Given the description of an element on the screen output the (x, y) to click on. 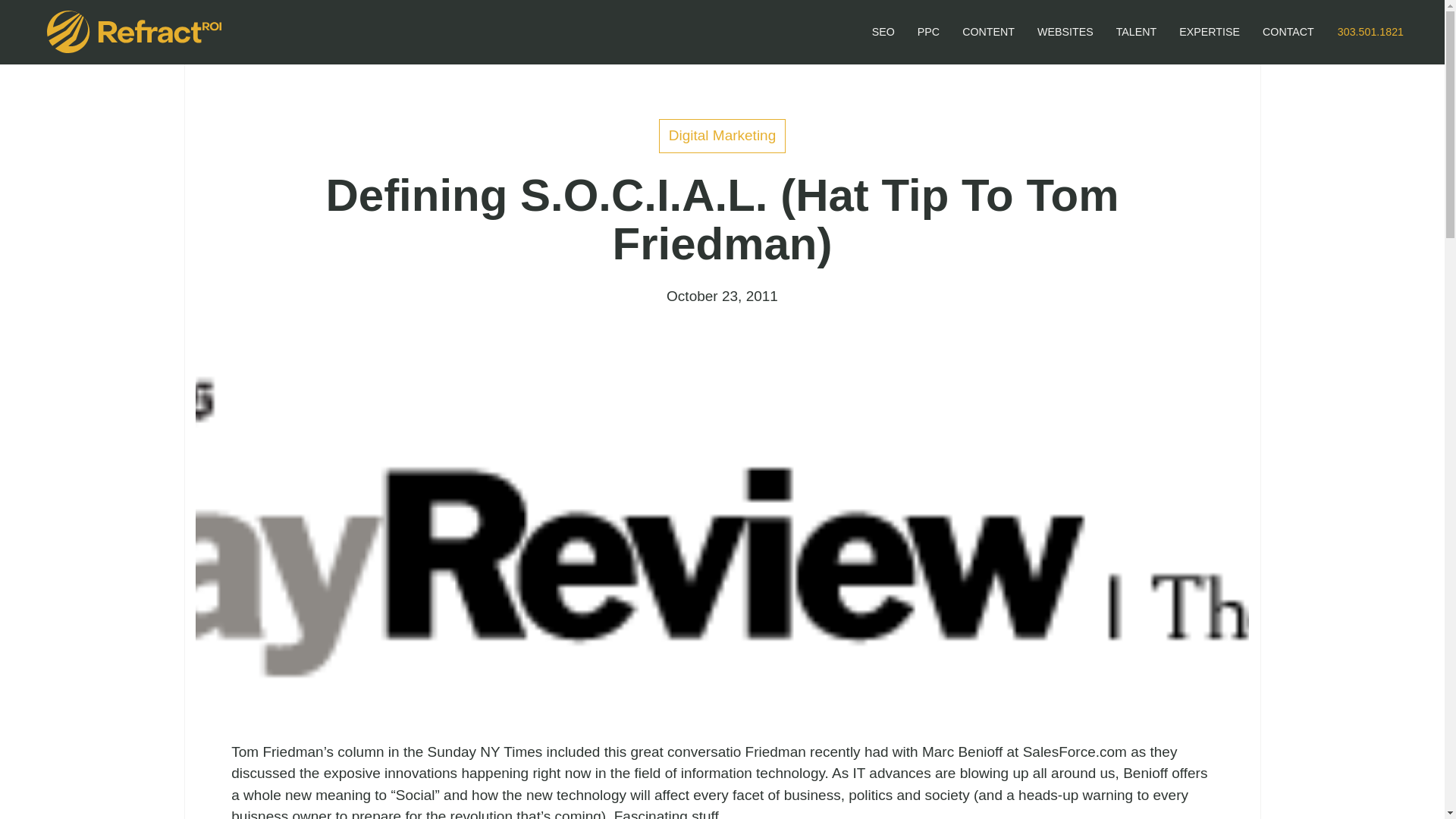
303.501.1821 (1369, 31)
EXPERTISE (1208, 32)
TALENT (1137, 32)
CONTENT (988, 32)
CONTACT (777, 32)
WEBSITES (1287, 32)
SEO (1065, 32)
Digital Marketing (882, 32)
PPC (722, 135)
